Given the description of an element on the screen output the (x, y) to click on. 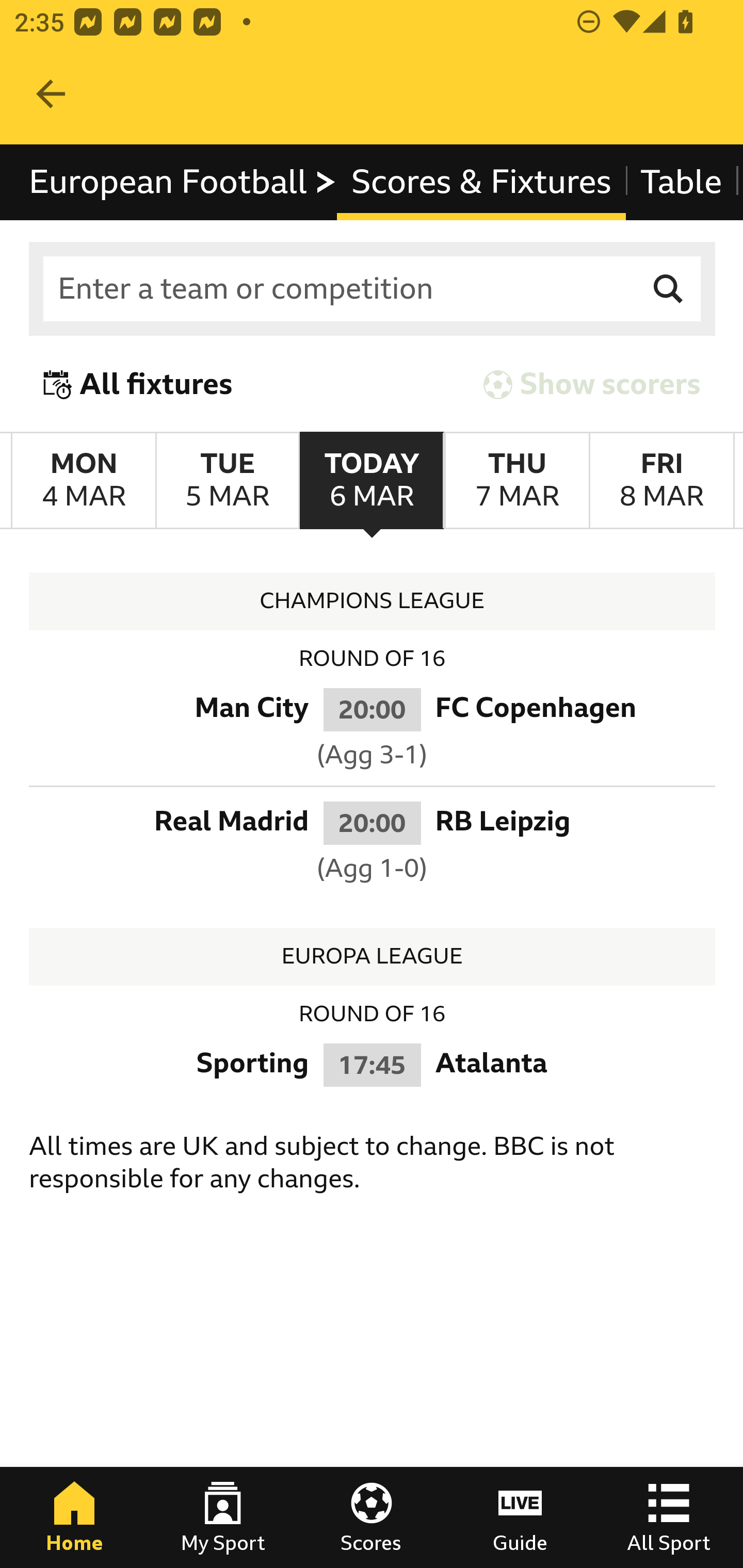
Navigate up (50, 93)
European Football  (182, 181)
Scores & Fixtures (480, 181)
Table (681, 181)
Search (669, 289)
All fixtures (137, 383)
Show scorers (591, 383)
MondayMarch 4th Monday March 4th (83, 480)
TuesdayMarch 5th Tuesday March 5th (227, 480)
ThursdayMarch 7th Thursday March 7th (516, 480)
FridayMarch 8th Friday March 8th (661, 480)
My Sport (222, 1517)
Scores (371, 1517)
Guide (519, 1517)
All Sport (668, 1517)
